Given the description of an element on the screen output the (x, y) to click on. 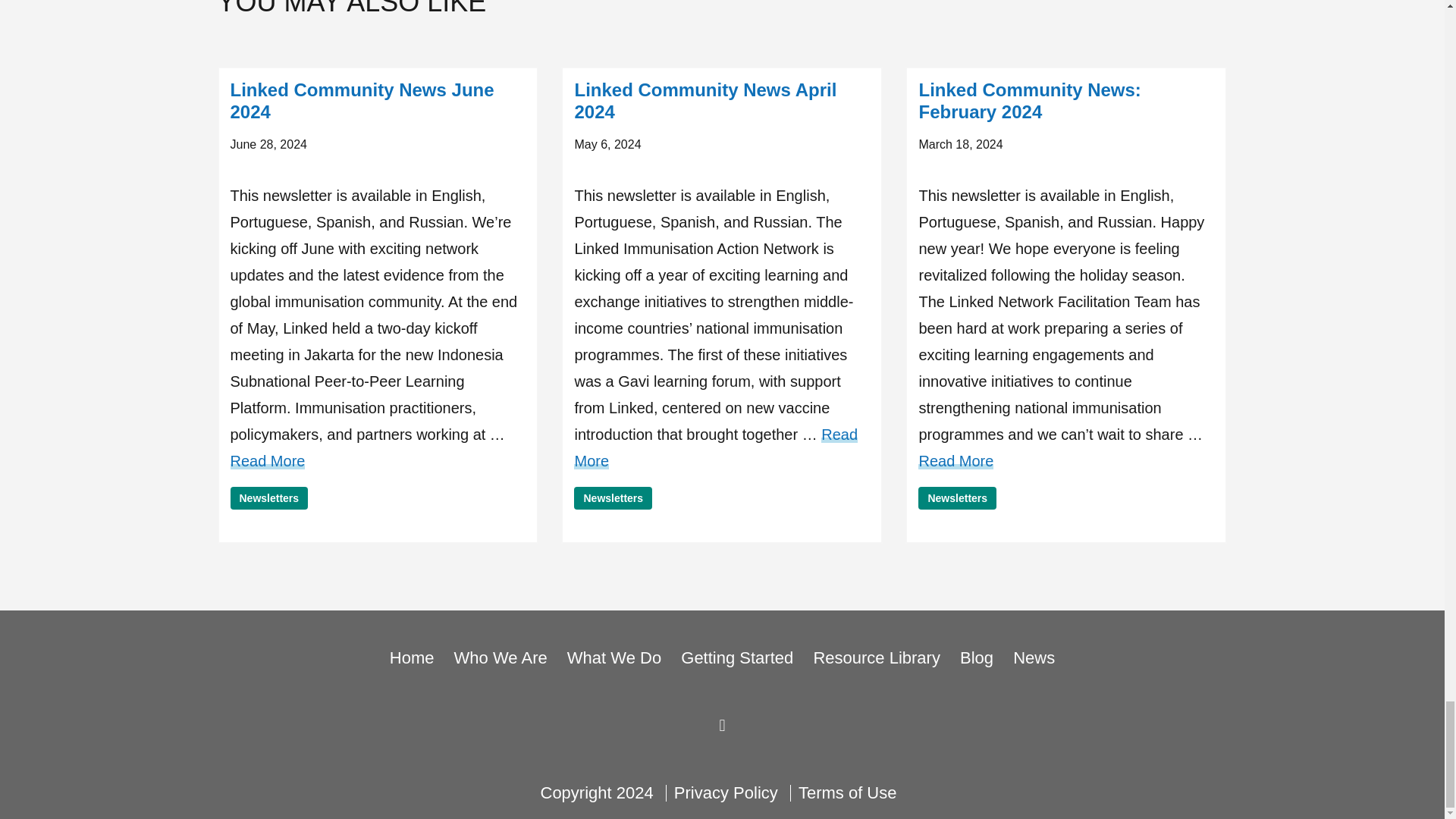
newsletters (269, 497)
newsletters (956, 497)
newsletters (612, 497)
